Given the description of an element on the screen output the (x, y) to click on. 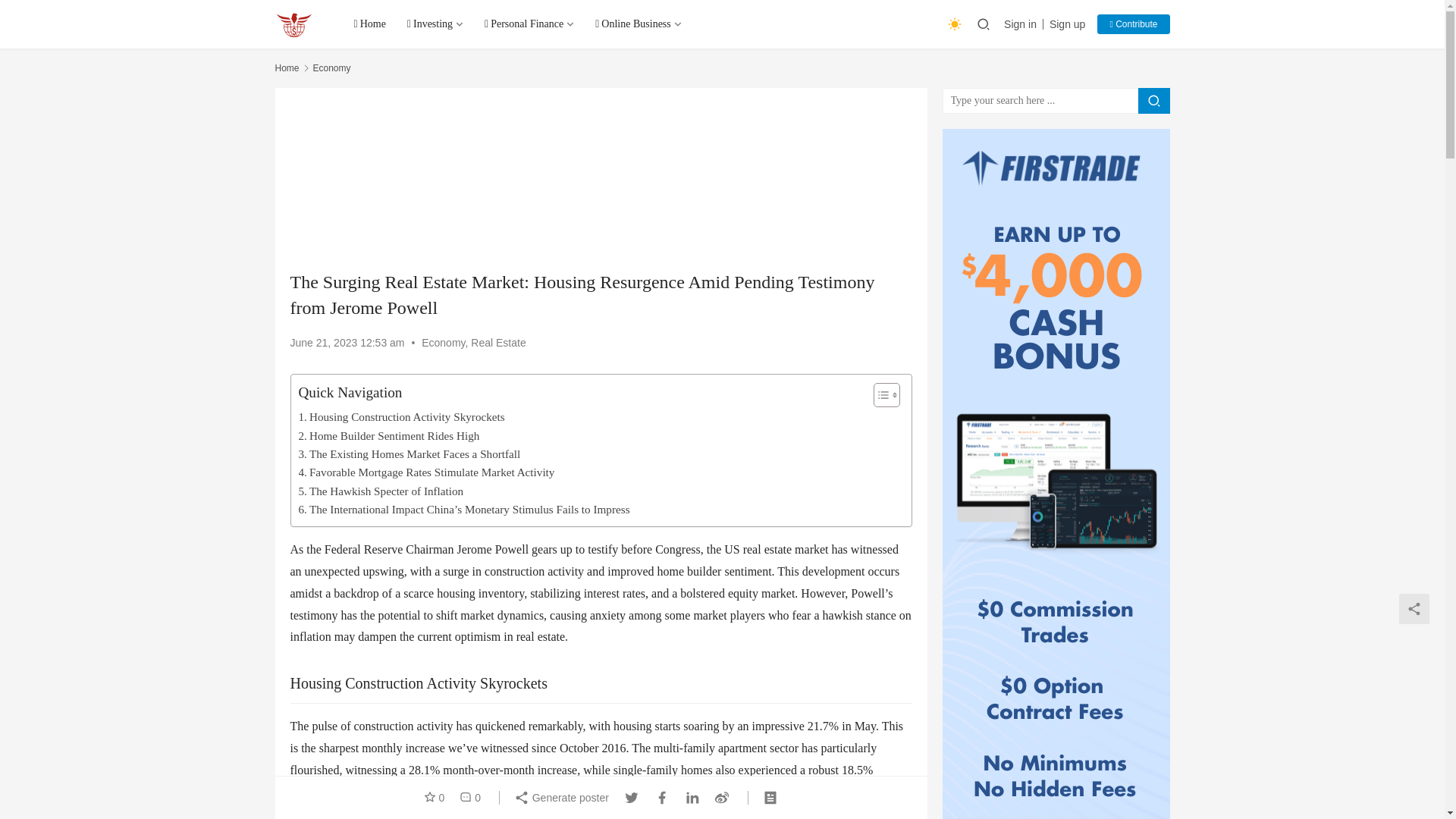
Favorable Mortgage Rates Stimulate Market Activity (426, 472)
Real Estate (497, 342)
Investing (435, 24)
The Existing Homes Market Faces a Shortfall (409, 454)
Sign in (1023, 24)
Home (286, 68)
Contribute (1133, 24)
Home Builder Sentiment Rides High (389, 435)
Sign up (1066, 24)
Favorable Mortgage Rates Stimulate Market Activity (426, 472)
